Given the description of an element on the screen output the (x, y) to click on. 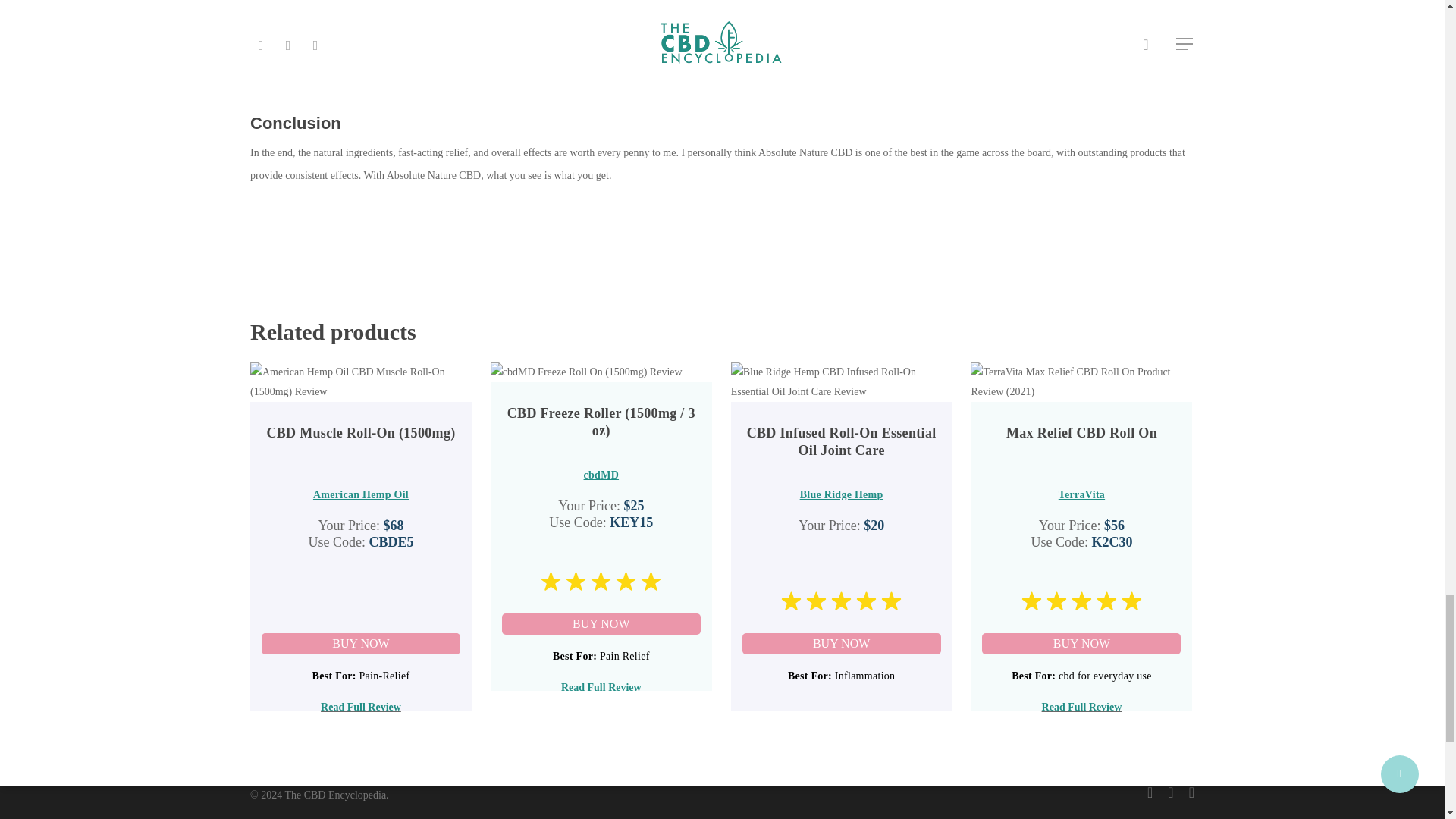
BUY NOW (841, 643)
Blue Ridge Hemp CBD Roll On Joint Care (841, 643)
TerraVita (1081, 494)
CBD Freeze Pain Relief 3oz Roll-On 1500mg (601, 623)
American Hemp Oil (361, 494)
TerraVita Max Relief CBD Roll-On (1080, 643)
BUY NOW (361, 643)
BUY NOW (601, 623)
Read Full Review (1082, 706)
BUY NOW (1080, 643)
Read Full Review (601, 686)
Read Full Review (360, 706)
Blue Ridge Hemp (841, 494)
American Hemp Oil Muscle Gel Roll-On (361, 643)
cbdMD (601, 474)
